Given the description of an element on the screen output the (x, y) to click on. 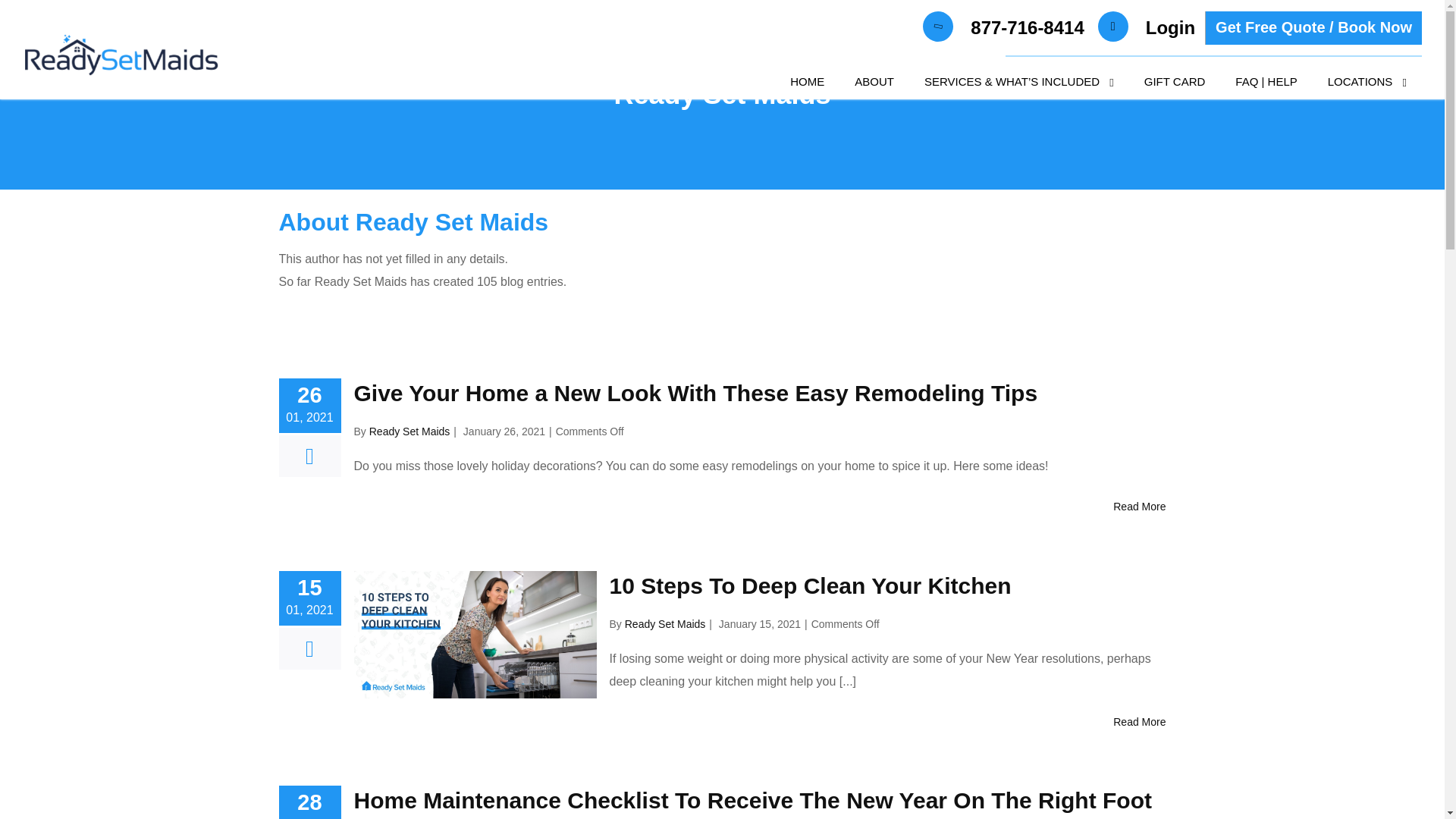
Login (1170, 28)
Posts by Ready Set Maids (409, 431)
ABOUT (874, 81)
Posts by Ready Set Maids (665, 623)
877-716-8414 (1026, 28)
LOCATIONS (1367, 82)
HOME (807, 81)
GIFT CARD (1175, 81)
